Given the description of an element on the screen output the (x, y) to click on. 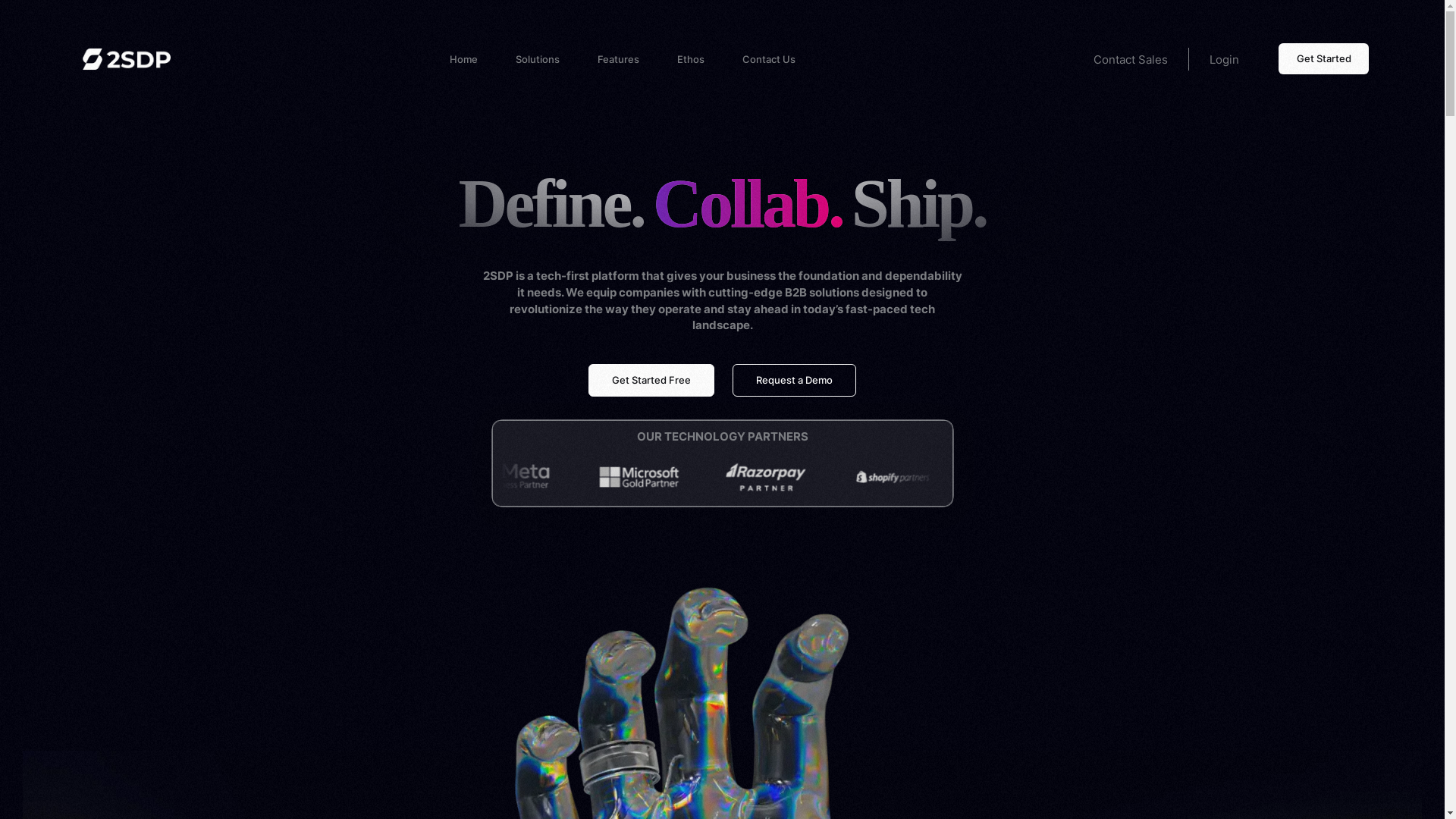
Contact Us Element type: text (768, 58)
Request a Demo Element type: text (794, 380)
Contact Sales Element type: text (294, 657)
Get Started Element type: text (1323, 58)
Contact Sales Element type: text (1131, 58)
email Element type: text (303, 617)
Features Element type: text (618, 58)
Ethos Element type: text (690, 58)
Get Started Free Element type: text (651, 380)
Solutions Element type: text (537, 58)
+1 (888) 988-2SDP Element type: text (407, 617)
Home Element type: text (463, 58)
Login Element type: text (1224, 59)
